Given the description of an element on the screen output the (x, y) to click on. 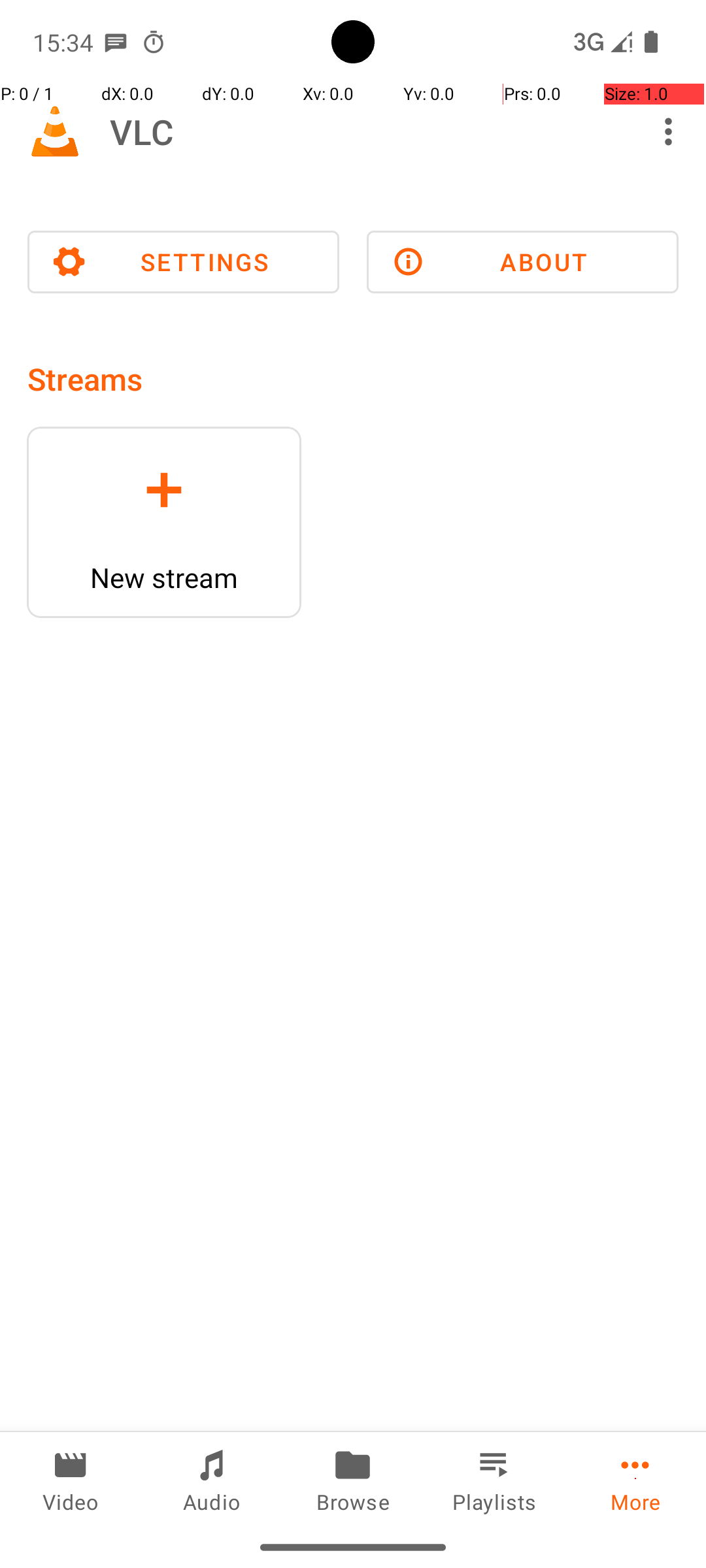
SETTINGS Element type: android.widget.Button (183, 261)
ABOUT Element type: android.widget.Button (522, 261)
Streams Element type: android.widget.TextView (84, 378)
New stream Element type: android.widget.TextView (163, 576)
